Given the description of an element on the screen output the (x, y) to click on. 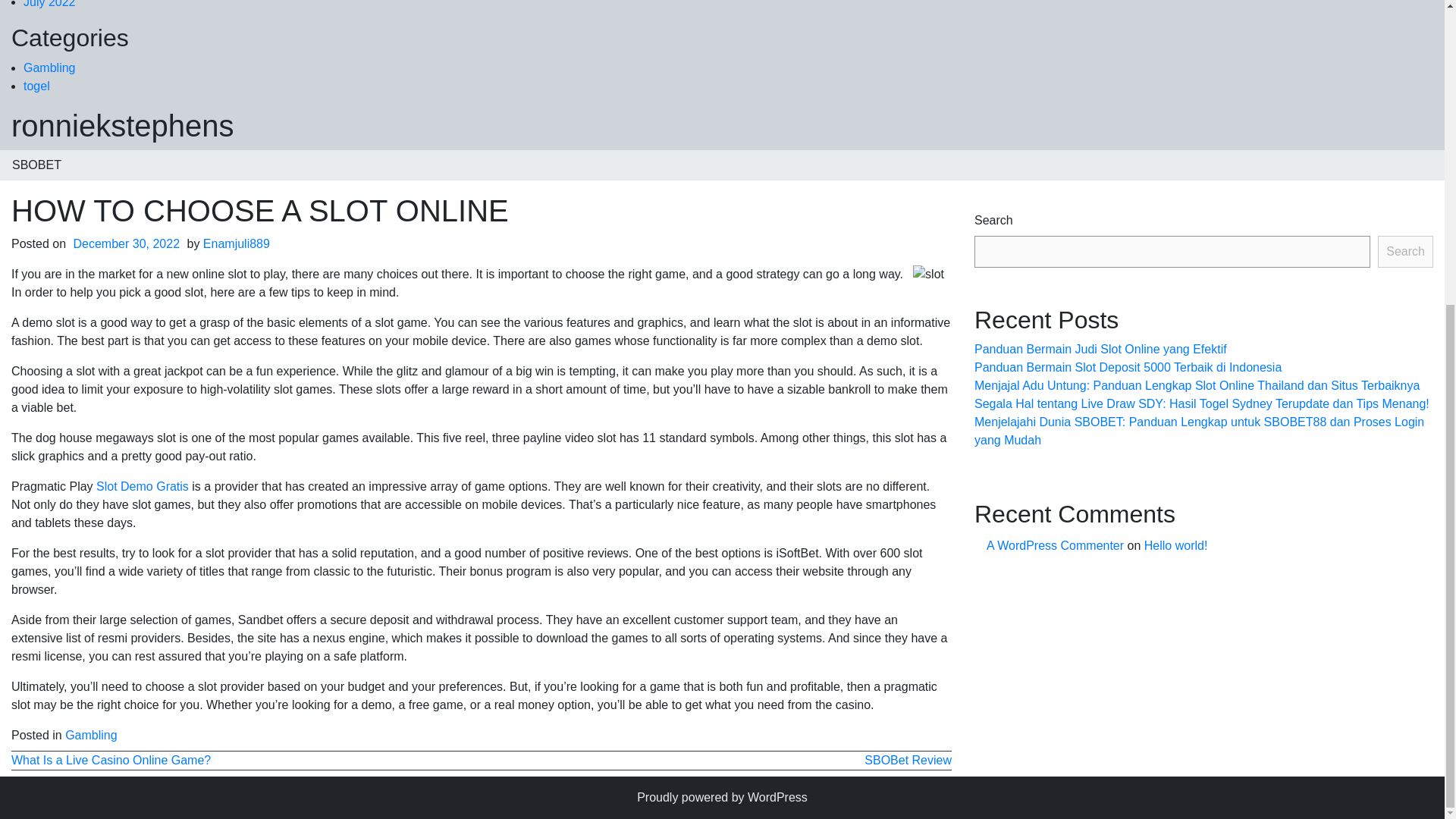
December 30, 2022 (126, 243)
Panduan Bermain Slot Deposit 5000 Terbaik di Indonesia (1127, 367)
Gambling (49, 67)
Search (1404, 251)
togel (36, 85)
Slot Demo Gratis (142, 486)
What Is a Live Casino Online Game? (111, 759)
Panduan Bermain Judi Slot Online yang Efektif (1100, 349)
SBOBET (37, 164)
SBOBet Review (908, 759)
